Given the description of an element on the screen output the (x, y) to click on. 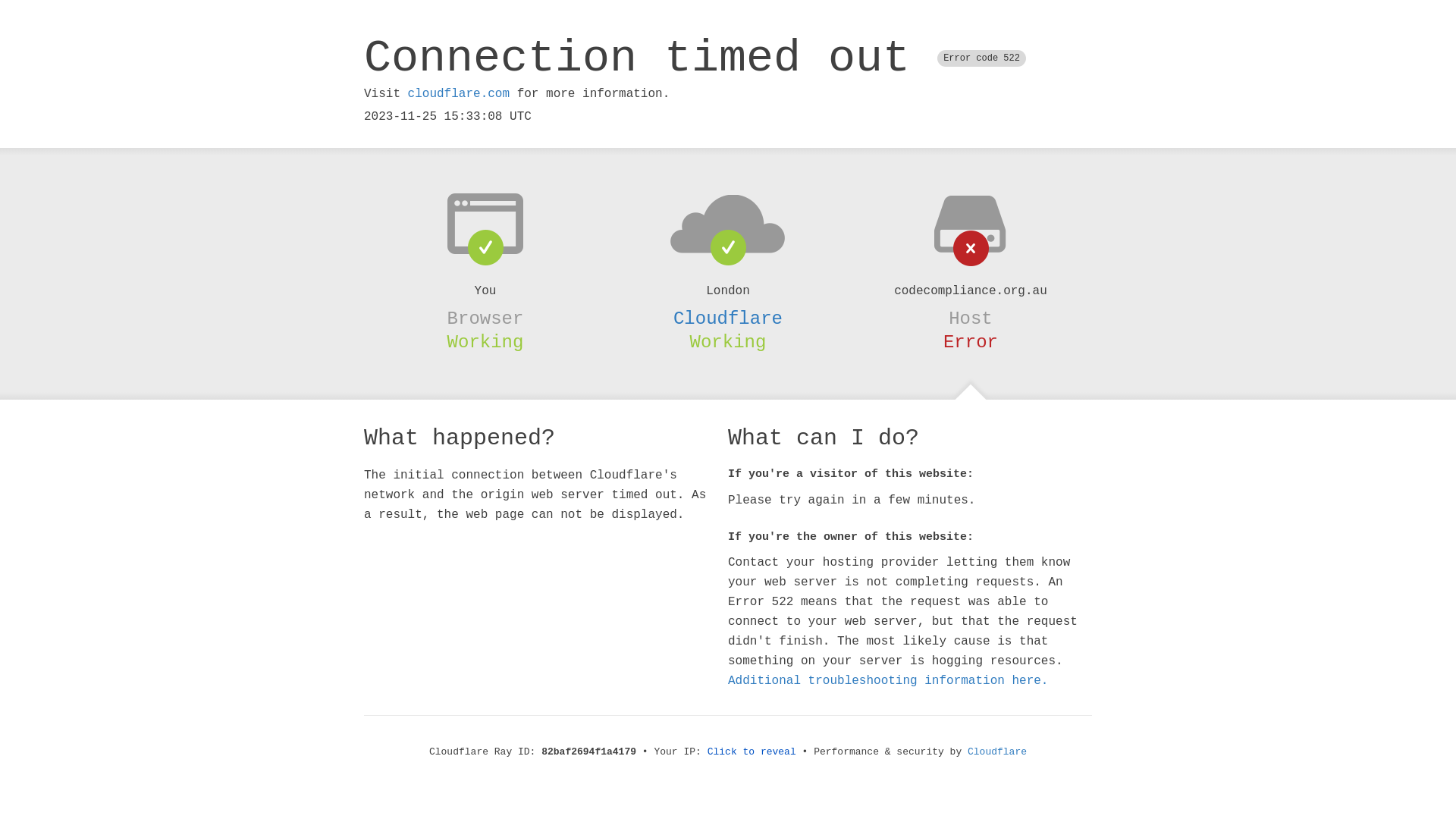
Additional troubleshooting information here. Element type: text (888, 680)
Cloudflare Element type: text (727, 318)
cloudflare.com Element type: text (458, 93)
Click to reveal Element type: text (751, 751)
Cloudflare Element type: text (996, 751)
